Given the description of an element on the screen output the (x, y) to click on. 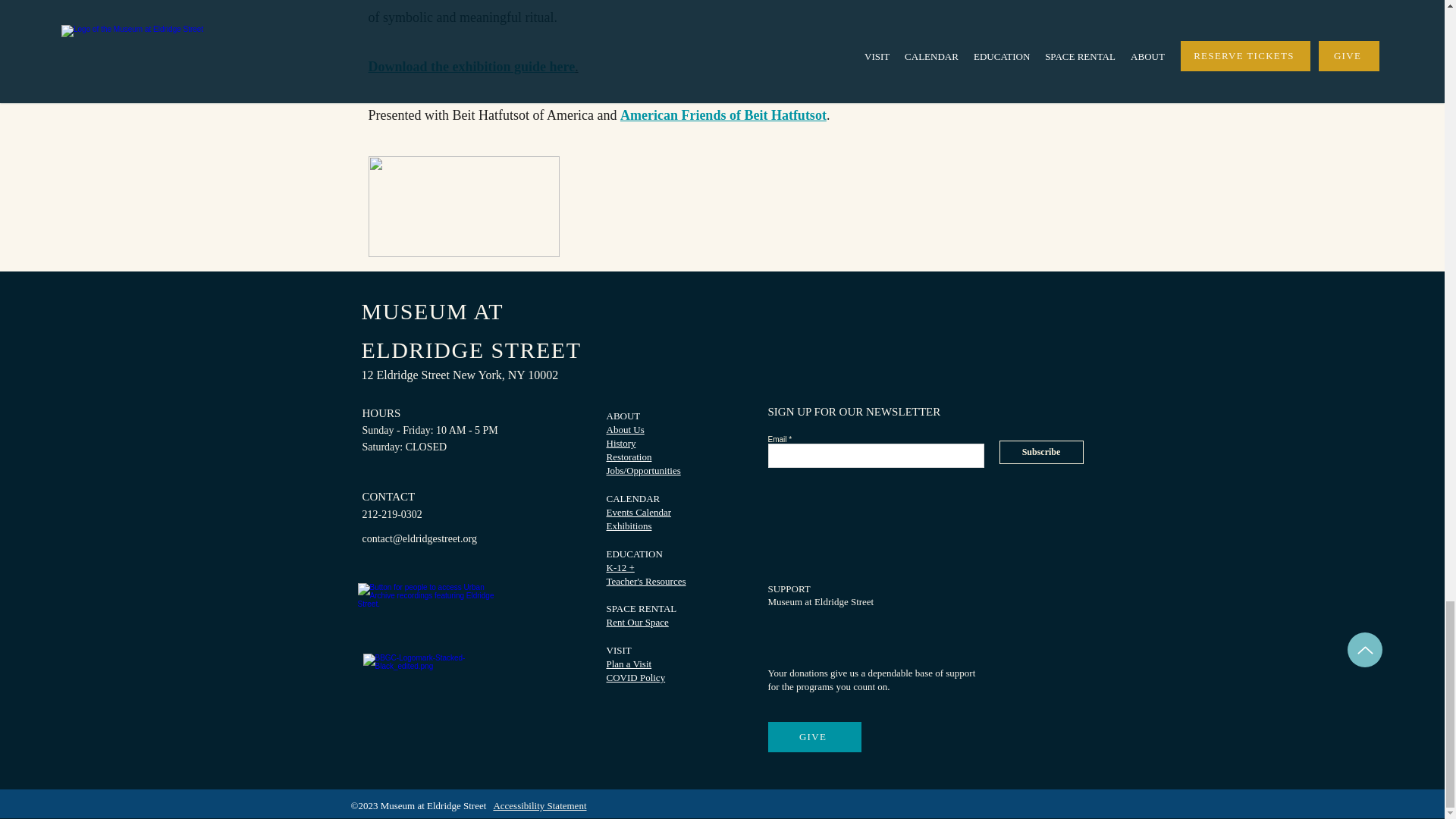
About Us (626, 429)
History (621, 442)
212-219-0302 (420, 514)
12 Eldridge Street New York, NY 10002 (486, 375)
American Friends of Beit Hatfutsot (723, 114)
Download the exhibition guide here. (473, 66)
